Given the description of an element on the screen output the (x, y) to click on. 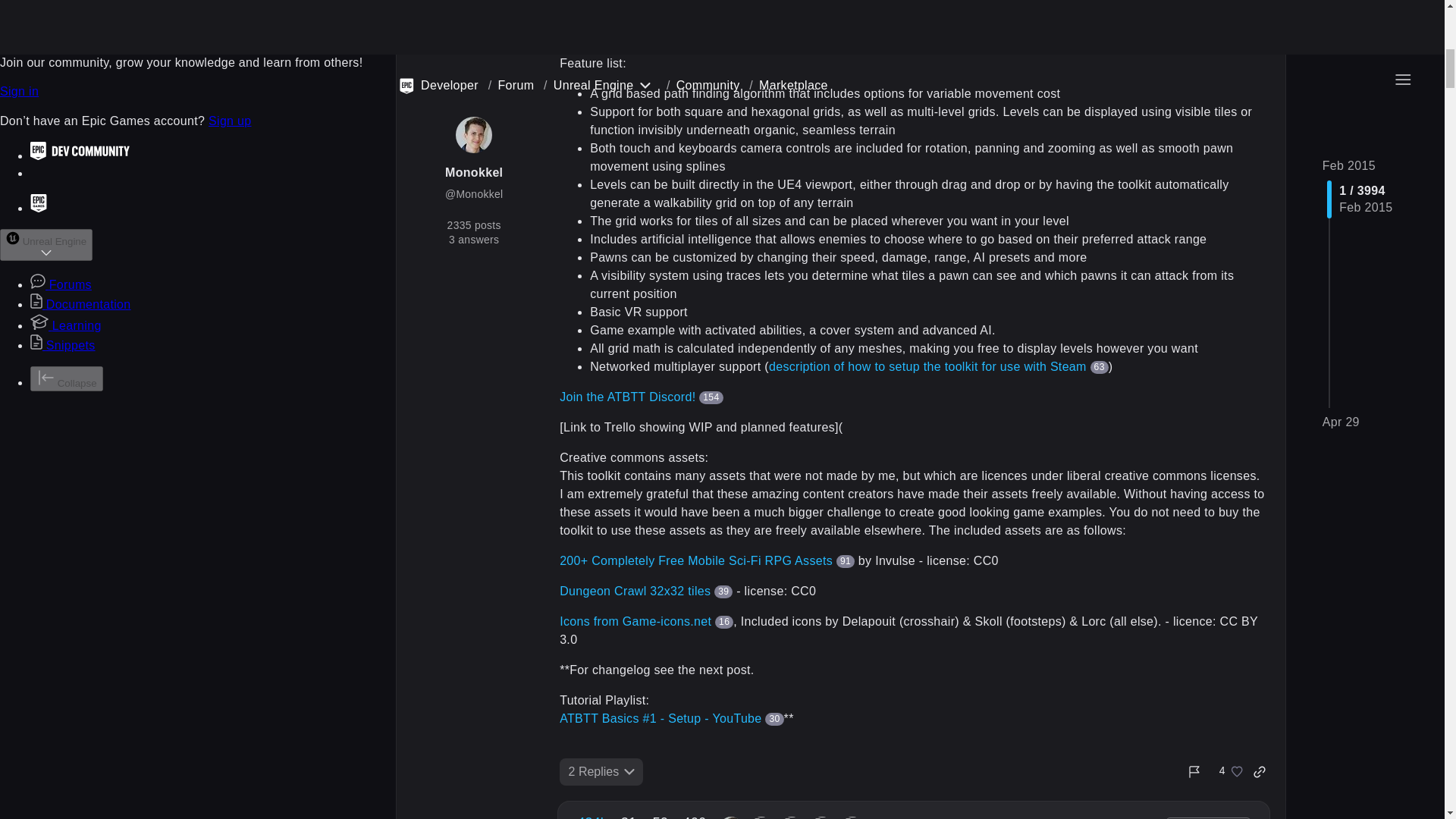
4 (1227, 771)
154 clicks (592, 816)
16 clicks (710, 397)
Dungeon Crawl 32x32 tiles 39 (723, 621)
63 clicks (645, 590)
39 clicks (1099, 367)
91 clicks (723, 591)
2 Replies (844, 561)
